Given the description of an element on the screen output the (x, y) to click on. 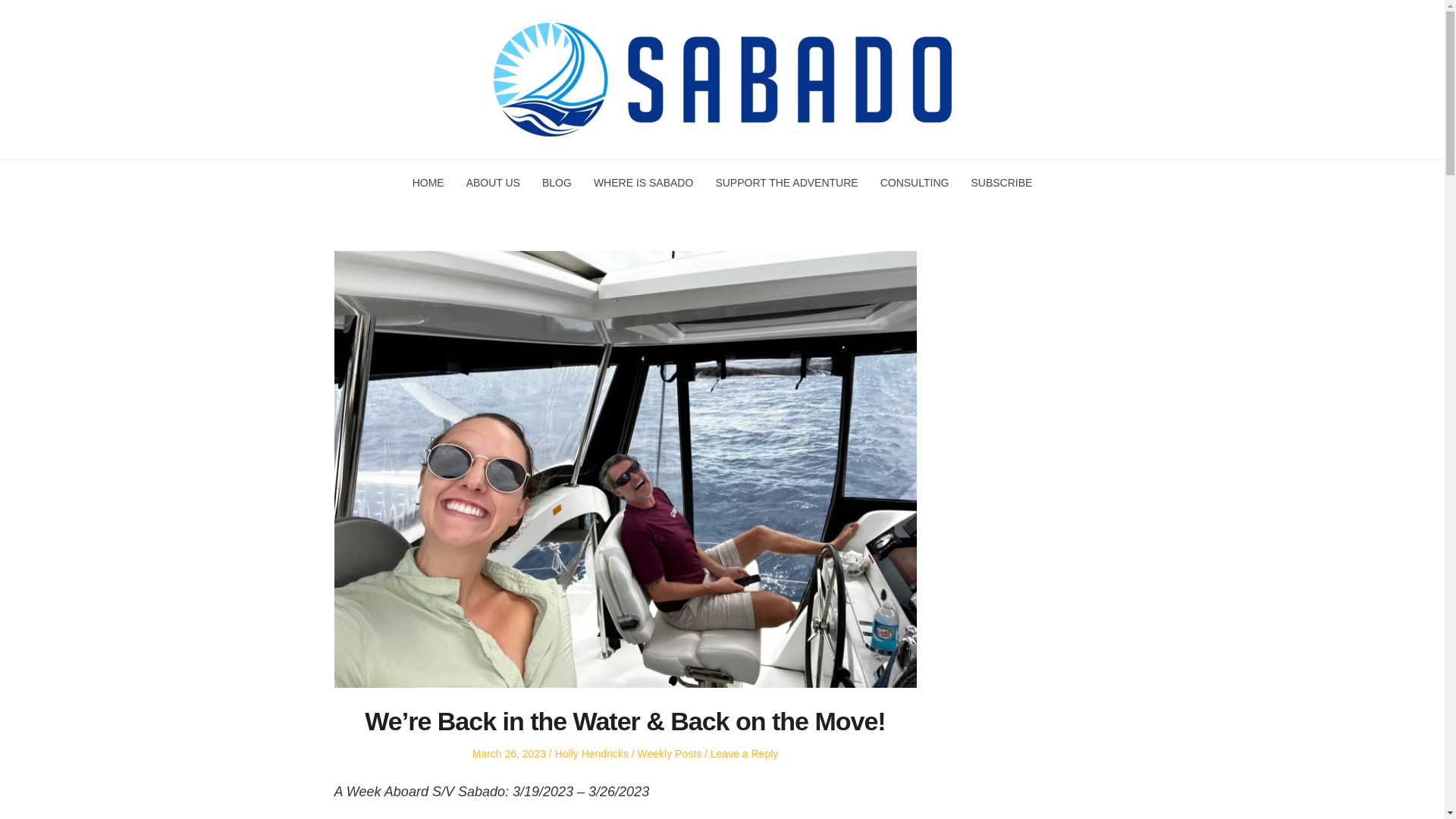
Weekly Posts (669, 753)
SUPPORT THE ADVENTURE (785, 182)
SUBSCRIBE (1001, 182)
WHERE IS SABADO (643, 182)
Leave a Reply (744, 753)
BLOG (556, 182)
Holly Hendricks (591, 753)
CONSULTING (914, 182)
ABOUT US (492, 182)
HOME (428, 182)
